Given the description of an element on the screen output the (x, y) to click on. 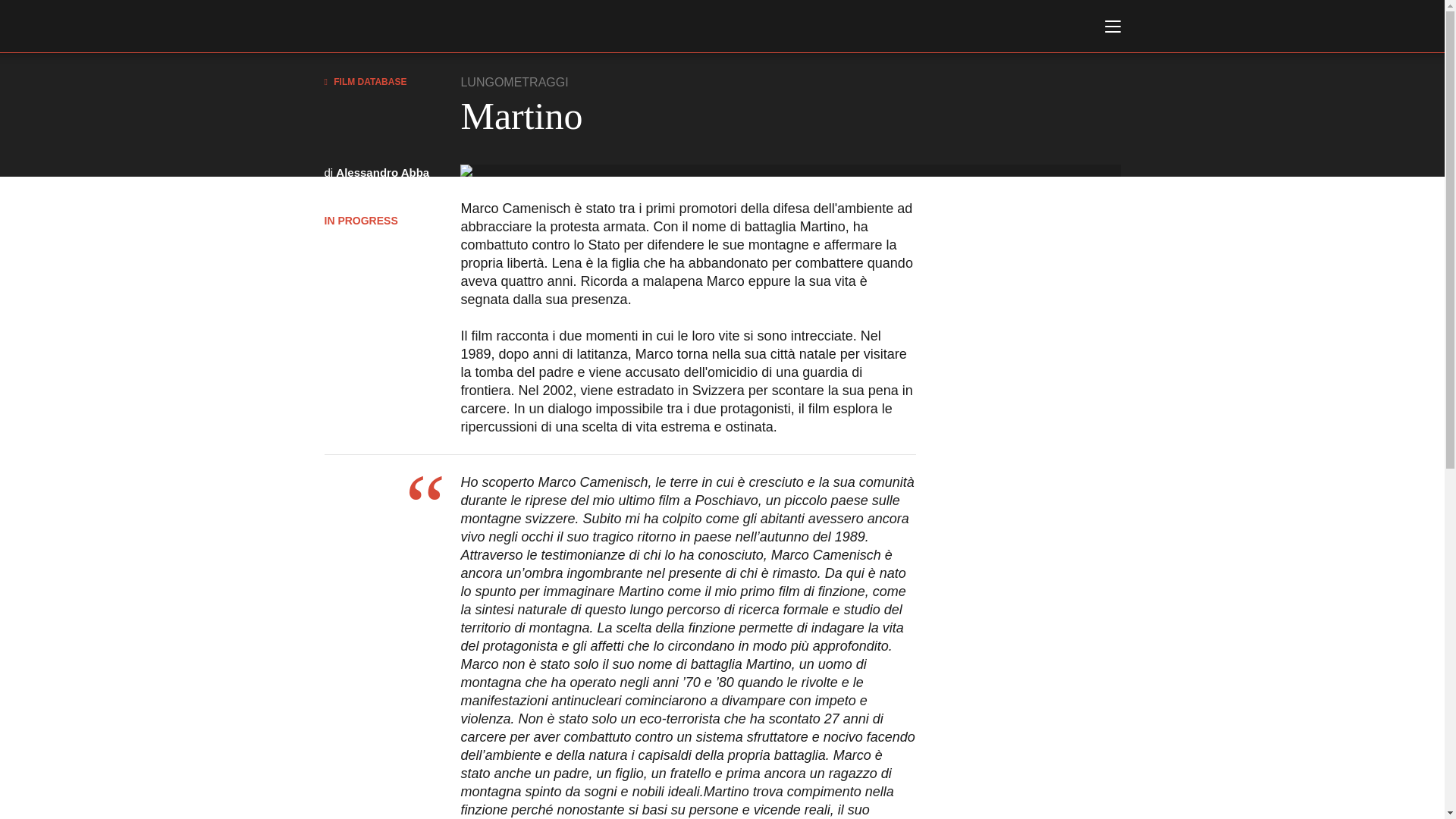
Share on Twitter (375, 278)
cerca (1014, 142)
Share on Facebook (338, 278)
